Given the description of an element on the screen output the (x, y) to click on. 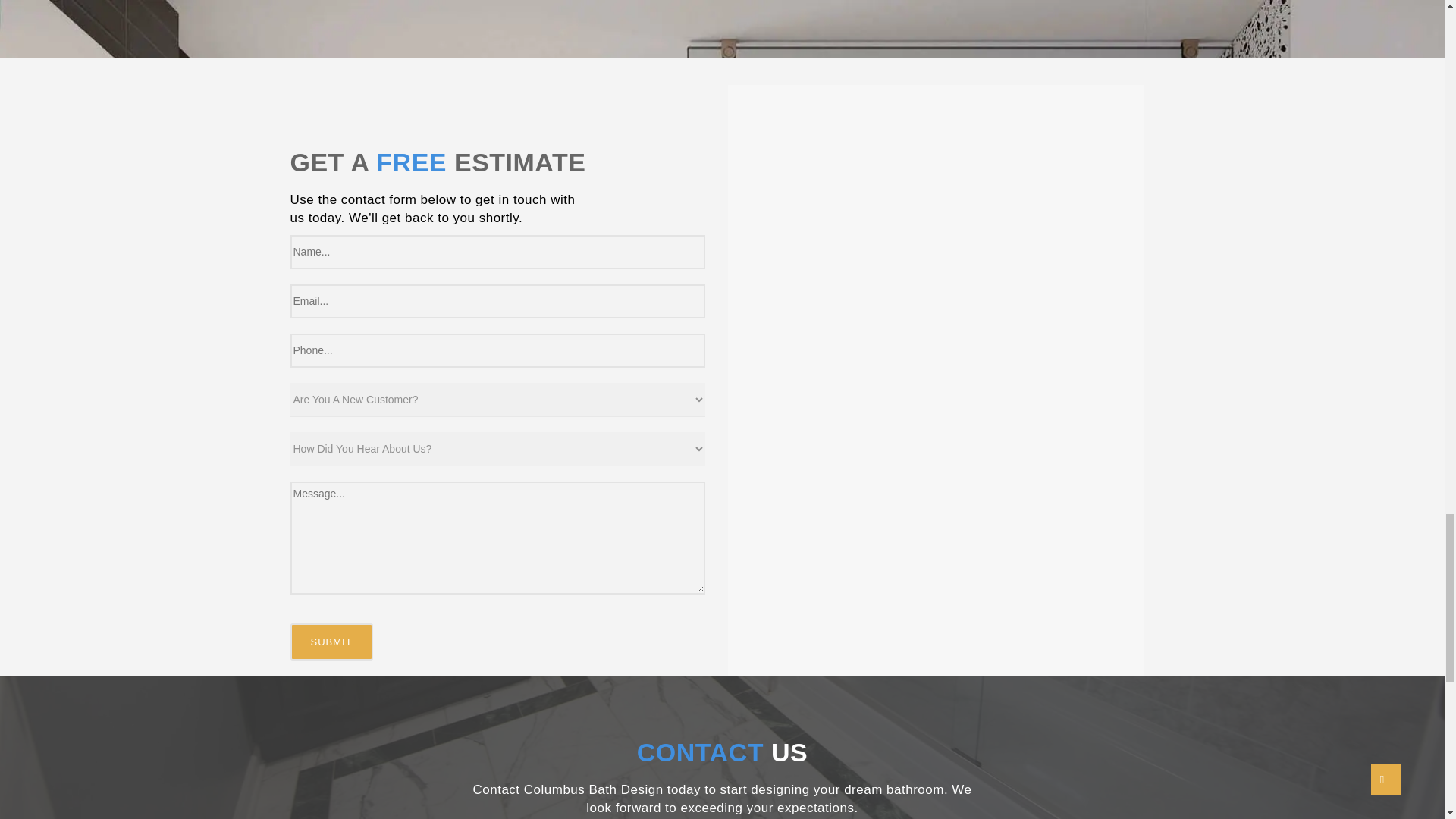
SUBMIT (330, 641)
